Given the description of an element on the screen output the (x, y) to click on. 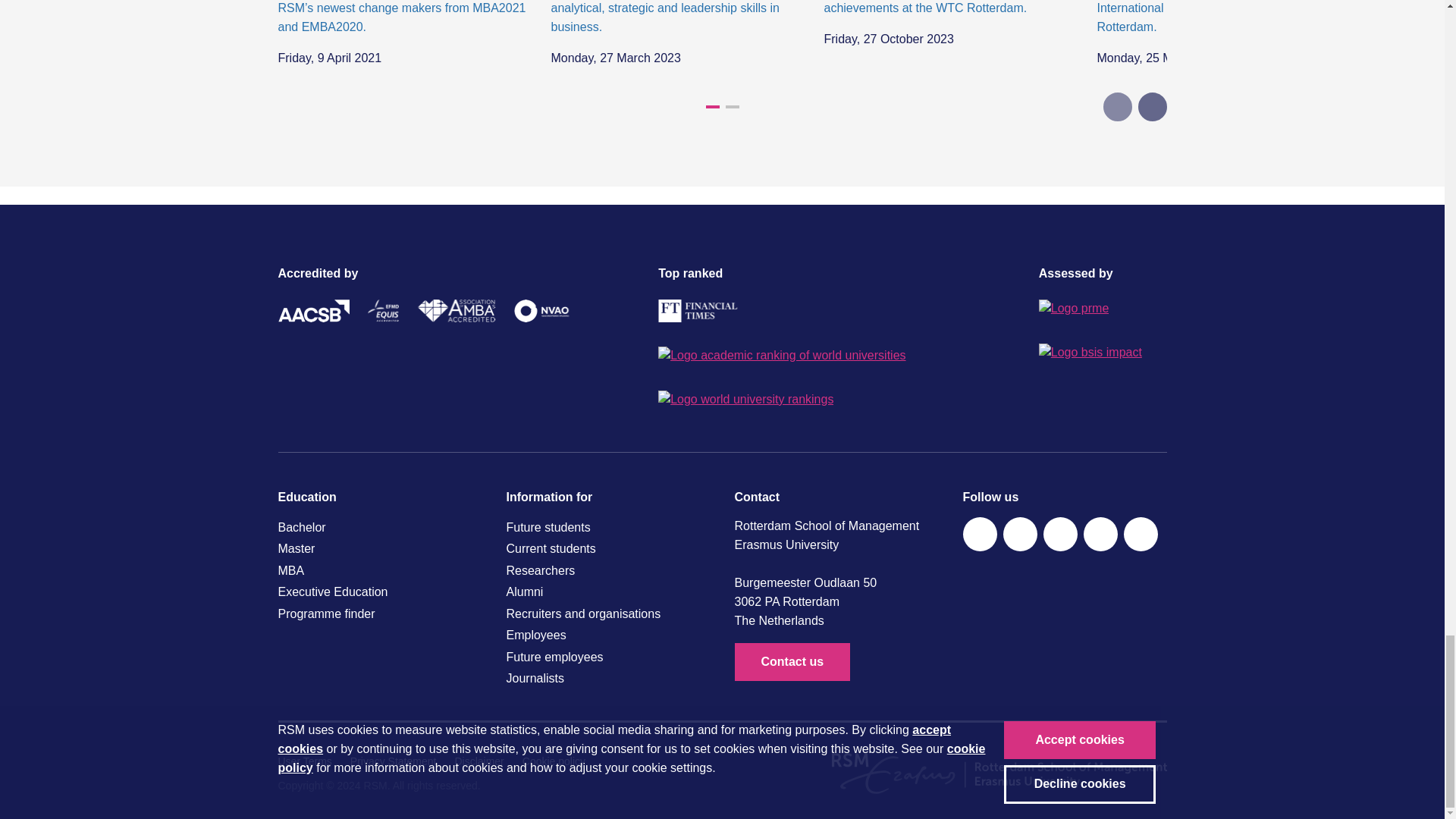
MBA (379, 570)
Programme finder (379, 613)
Bachelor (379, 527)
Master (379, 548)
Executive Education (379, 591)
